Given the description of an element on the screen output the (x, y) to click on. 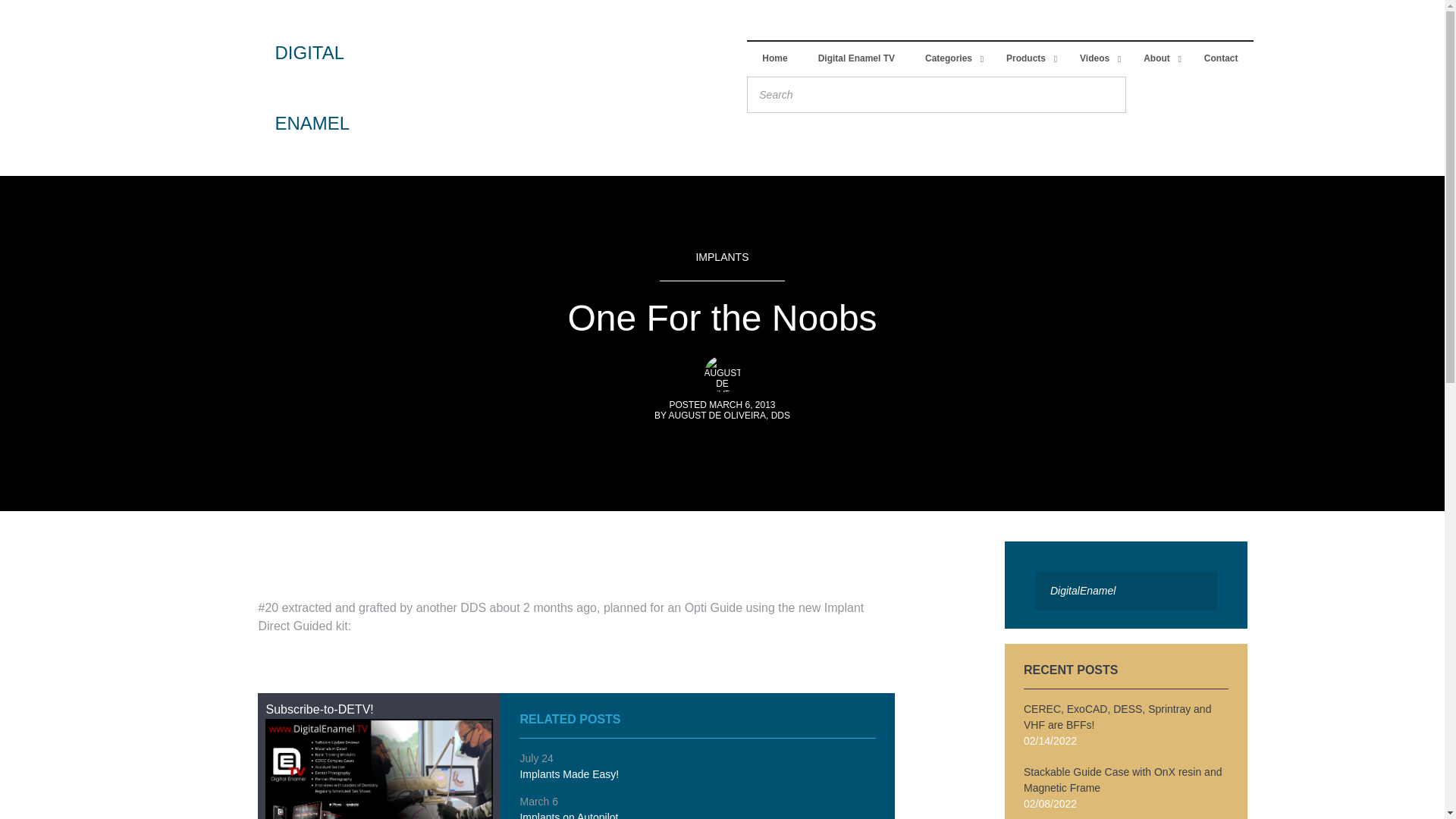
Videos (1096, 58)
Digital Enamel TV (856, 58)
Contact (1221, 58)
DIGITAL ENAMEL (304, 87)
About (1158, 58)
Categories (950, 58)
Home (774, 58)
Products (1027, 58)
